Given the description of an element on the screen output the (x, y) to click on. 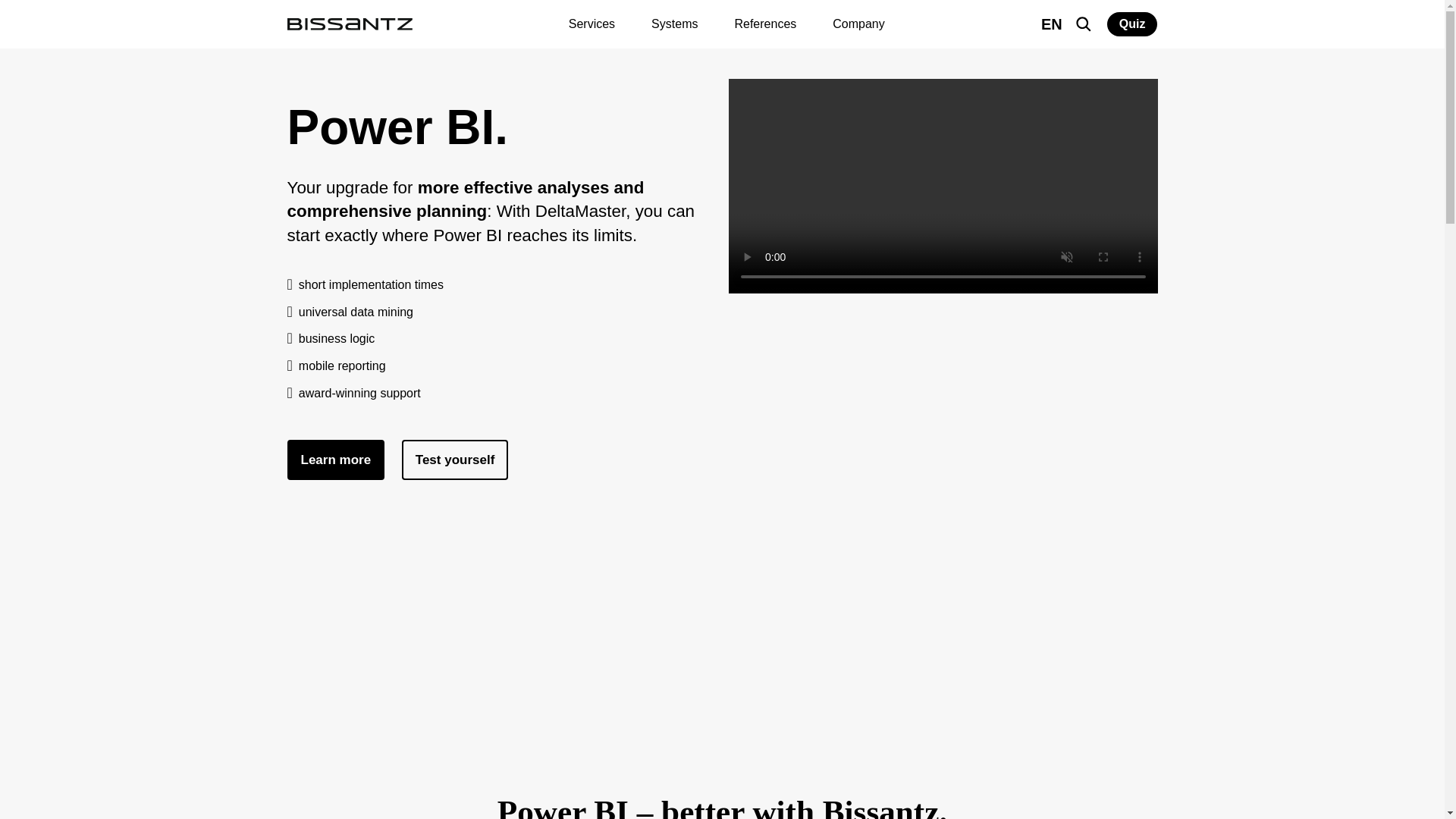
Services (591, 24)
Systems (674, 24)
Systems (674, 24)
References (765, 24)
Services (591, 24)
